Given the description of an element on the screen output the (x, y) to click on. 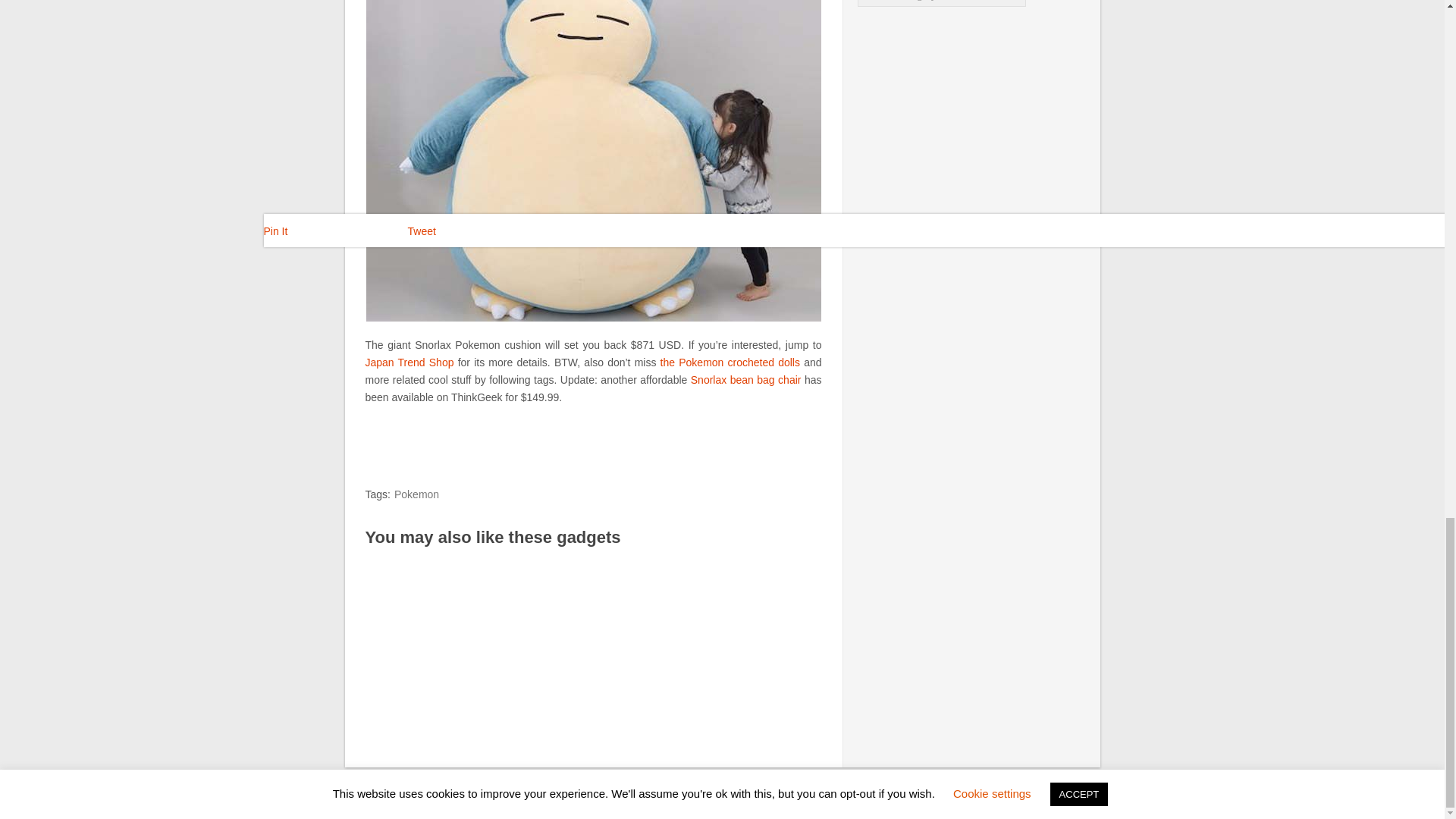
Snorlax bean bag chair (746, 379)
Pokemon (416, 494)
the Pokemon crocheted dolls (730, 362)
Japan Trend Shop (409, 362)
